Given the description of an element on the screen output the (x, y) to click on. 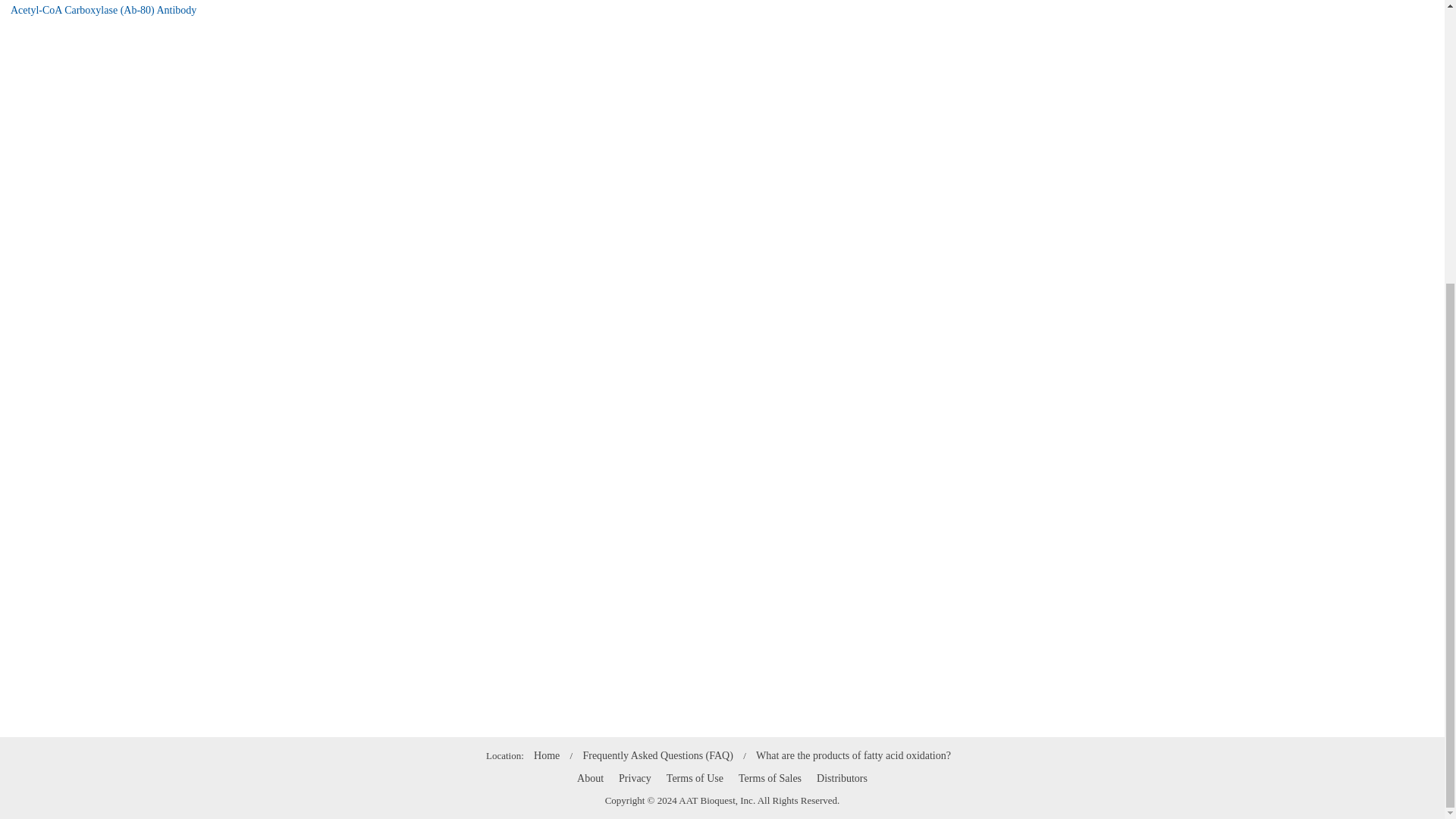
Terms of Use (694, 778)
Privacy (634, 778)
Terms of Sales (770, 778)
What are the products of fatty acid oxidation? (852, 755)
Home (546, 755)
About (590, 778)
